Given the description of an element on the screen output the (x, y) to click on. 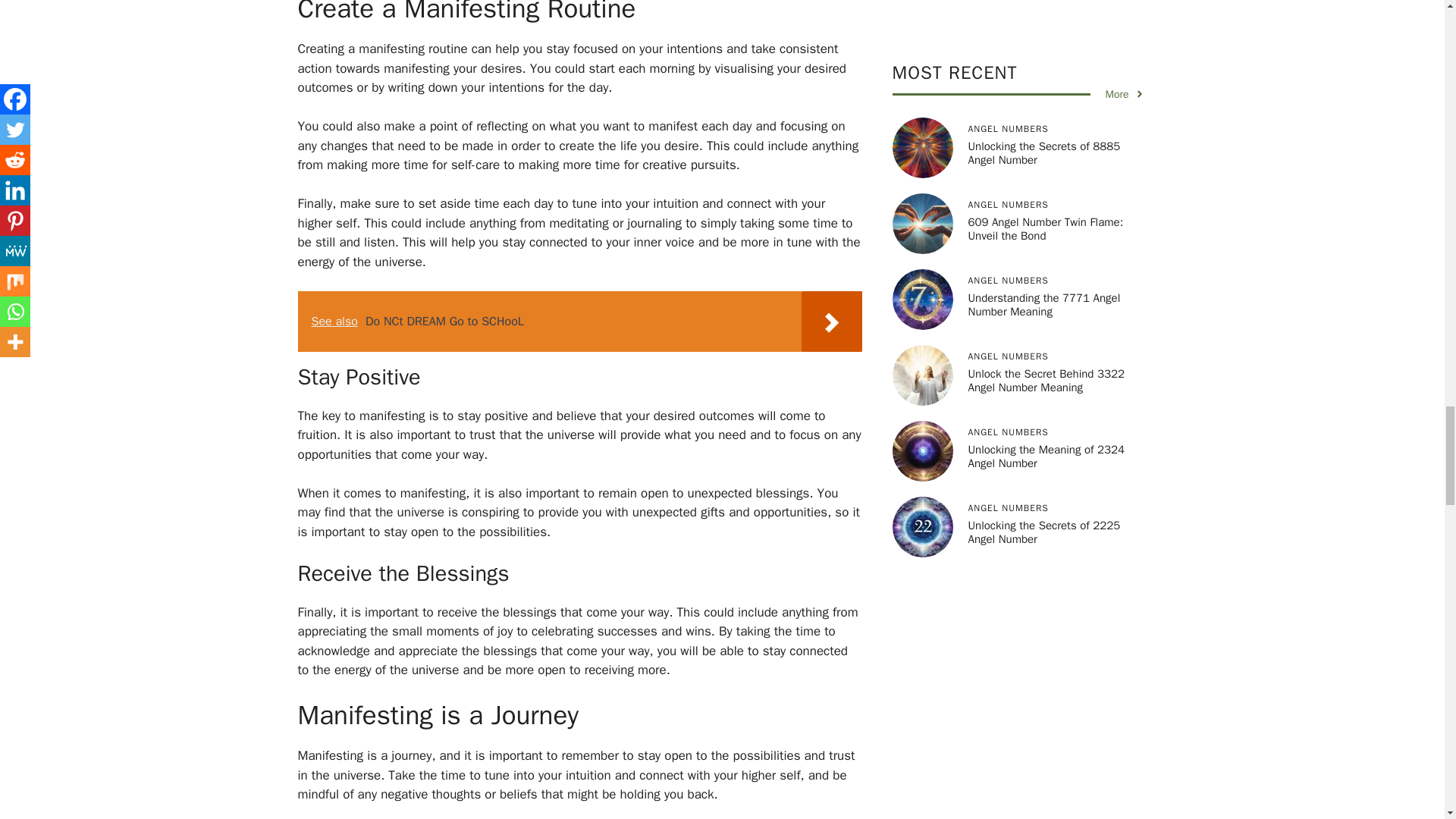
See also  Do NCt DREAM Go to SCHooL (579, 321)
